Given the description of an element on the screen output the (x, y) to click on. 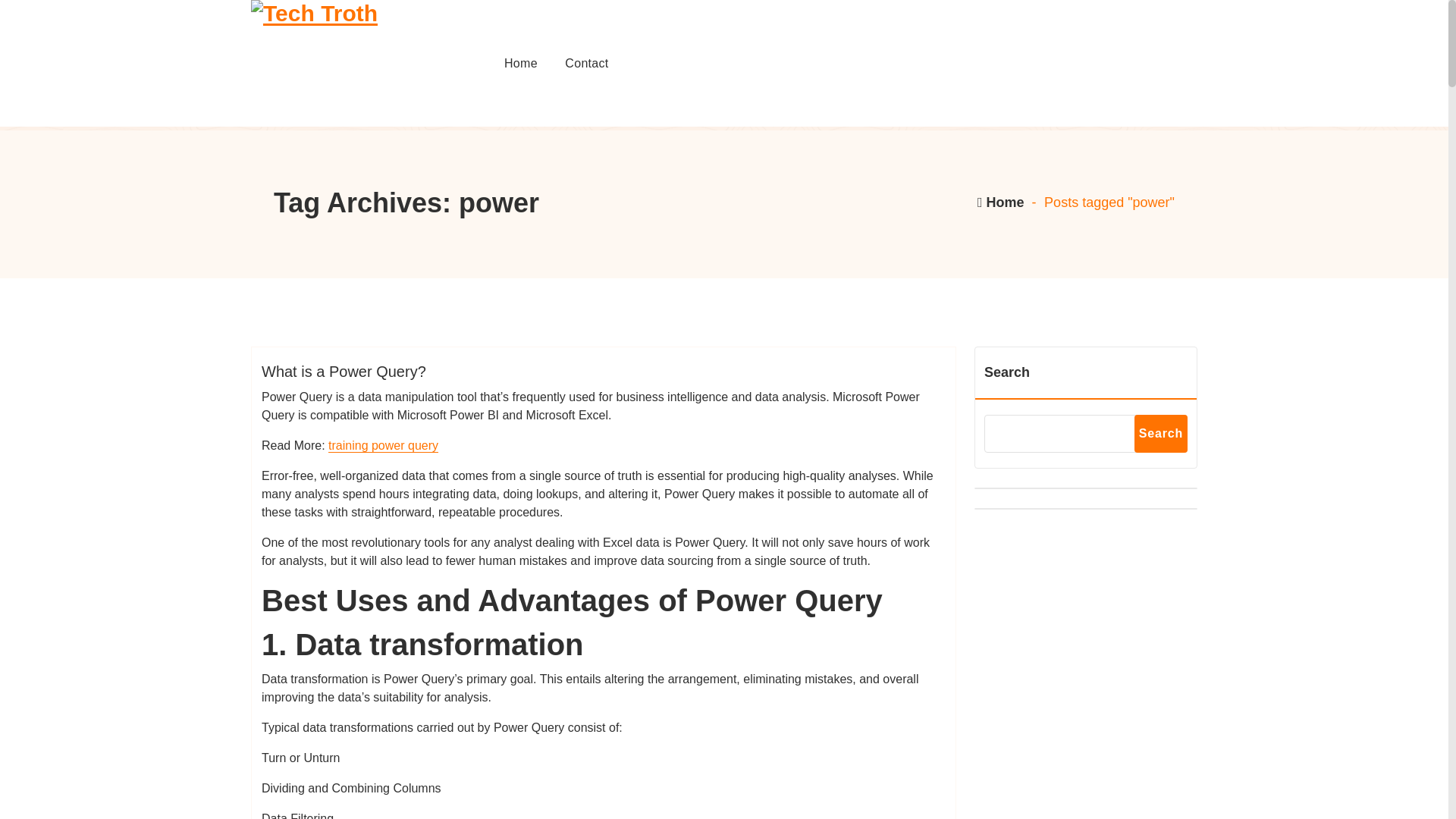
Home (521, 63)
What is a Power Query? (344, 371)
Home (521, 63)
Contact (586, 63)
Contact (586, 63)
training power query (383, 445)
Home (1000, 201)
